Given the description of an element on the screen output the (x, y) to click on. 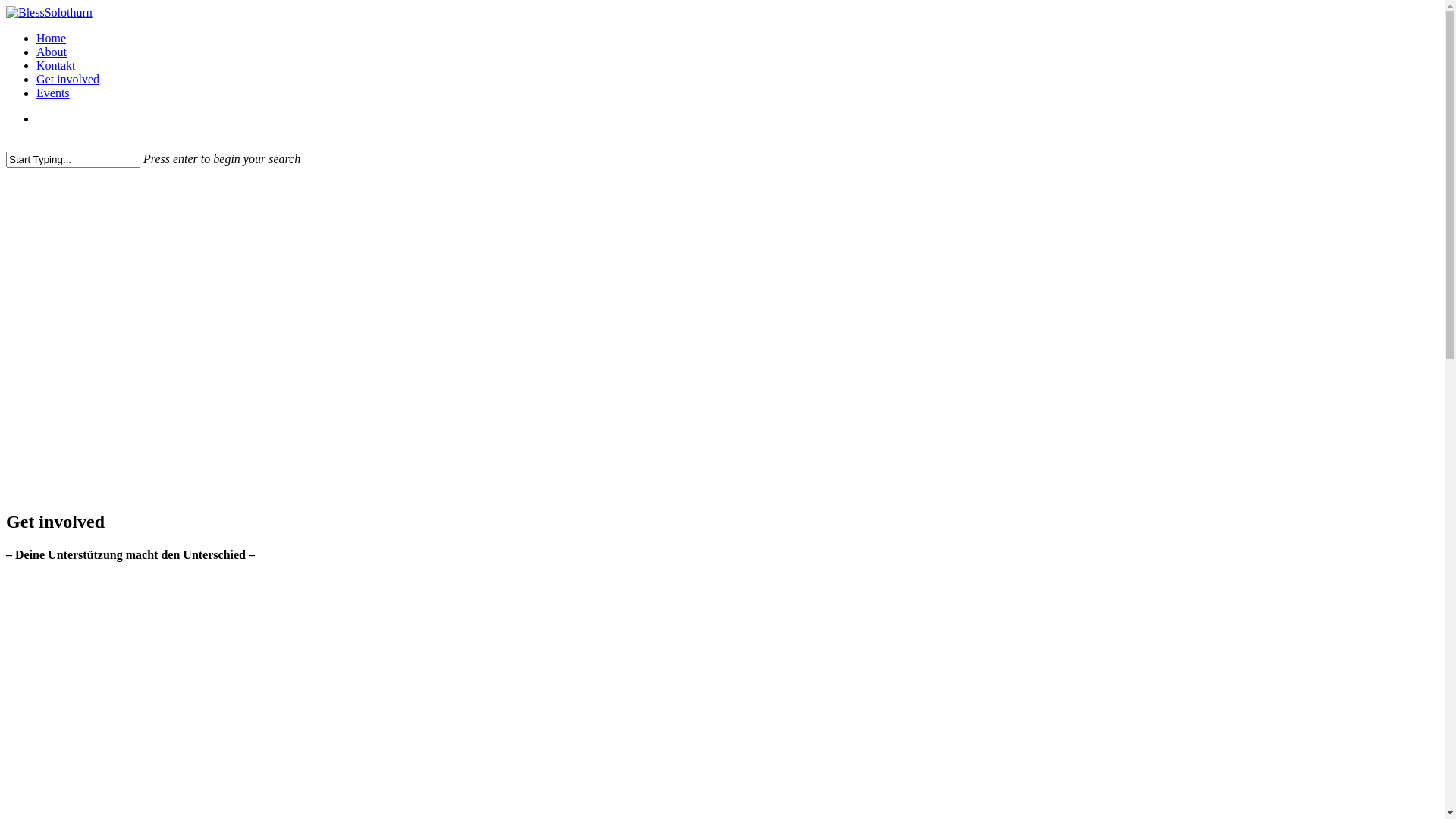
Kontakt Element type: text (55, 65)
Get involved Element type: text (67, 78)
About Element type: text (51, 51)
Home Element type: text (50, 37)
Events Element type: text (52, 92)
